Given the description of an element on the screen output the (x, y) to click on. 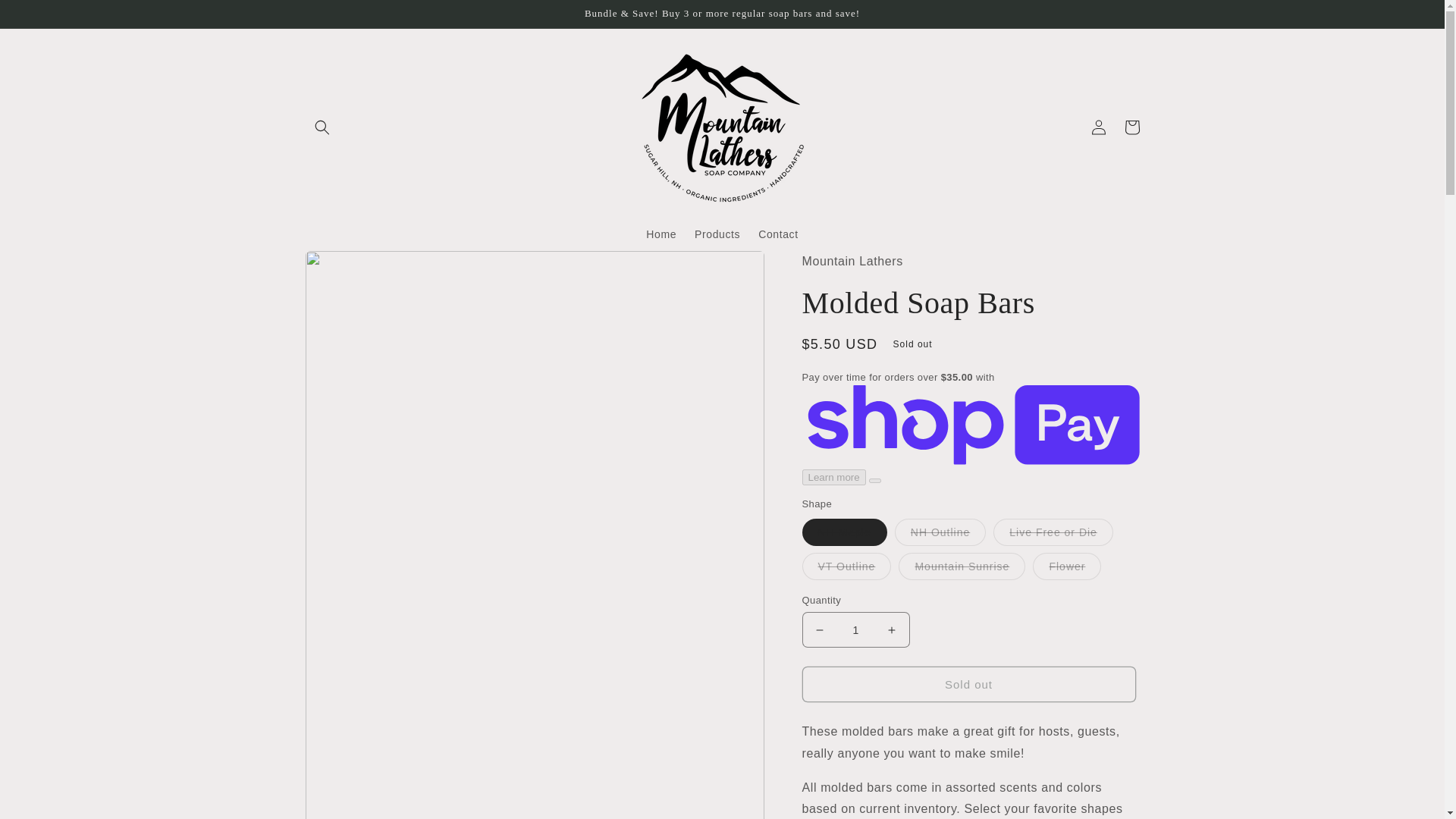
Increase quantity for Molded Soap Bars (891, 629)
Cart (1131, 127)
Sold out (968, 683)
Home (661, 234)
Contact (777, 234)
Log in (1098, 127)
Decrease quantity for Molded Soap Bars (818, 629)
